Given the description of an element on the screen output the (x, y) to click on. 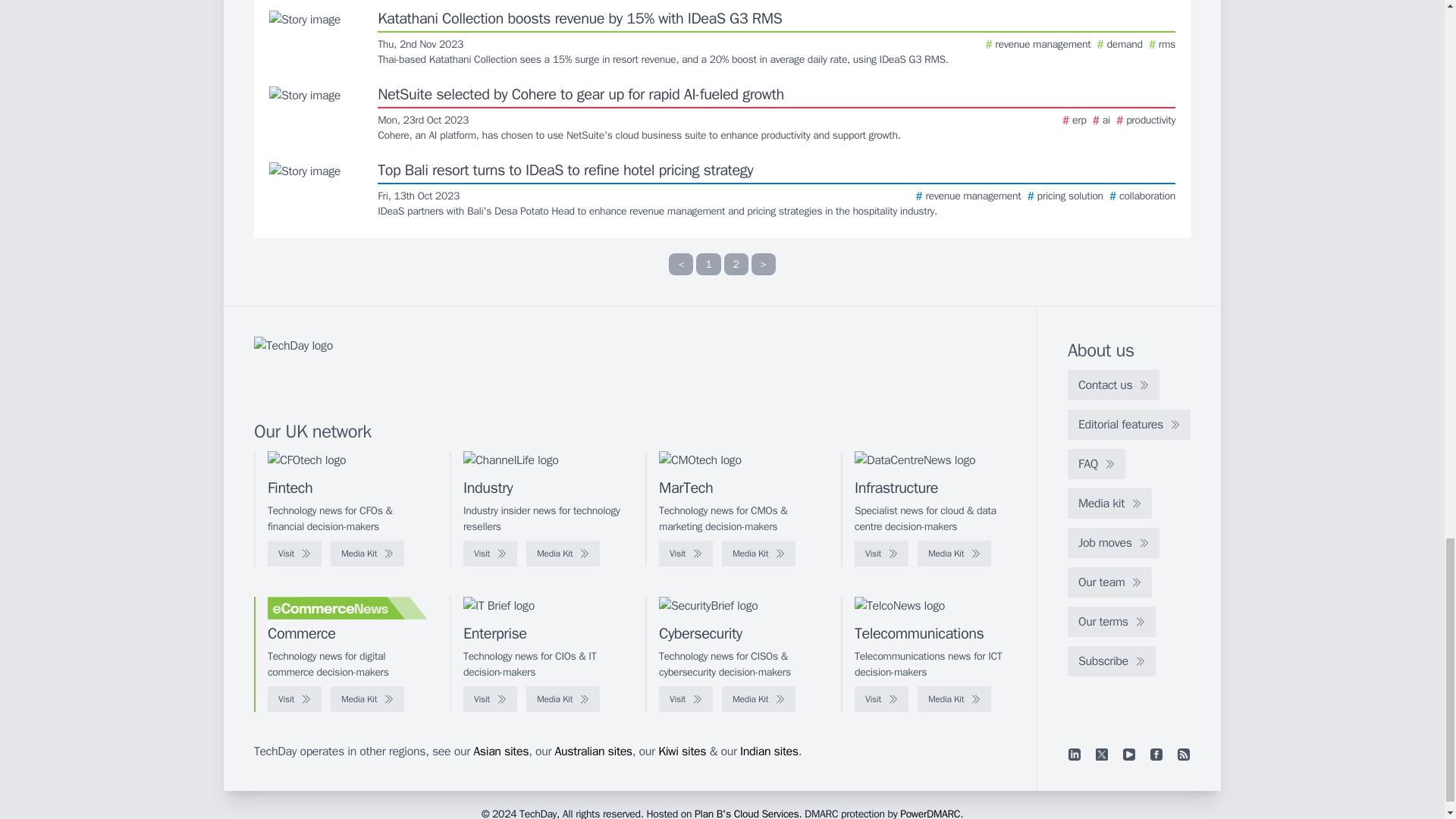
Media Kit (562, 553)
Media Kit (367, 553)
2 (735, 264)
Visit (294, 553)
1 (707, 264)
Visit (489, 553)
